Given the description of an element on the screen output the (x, y) to click on. 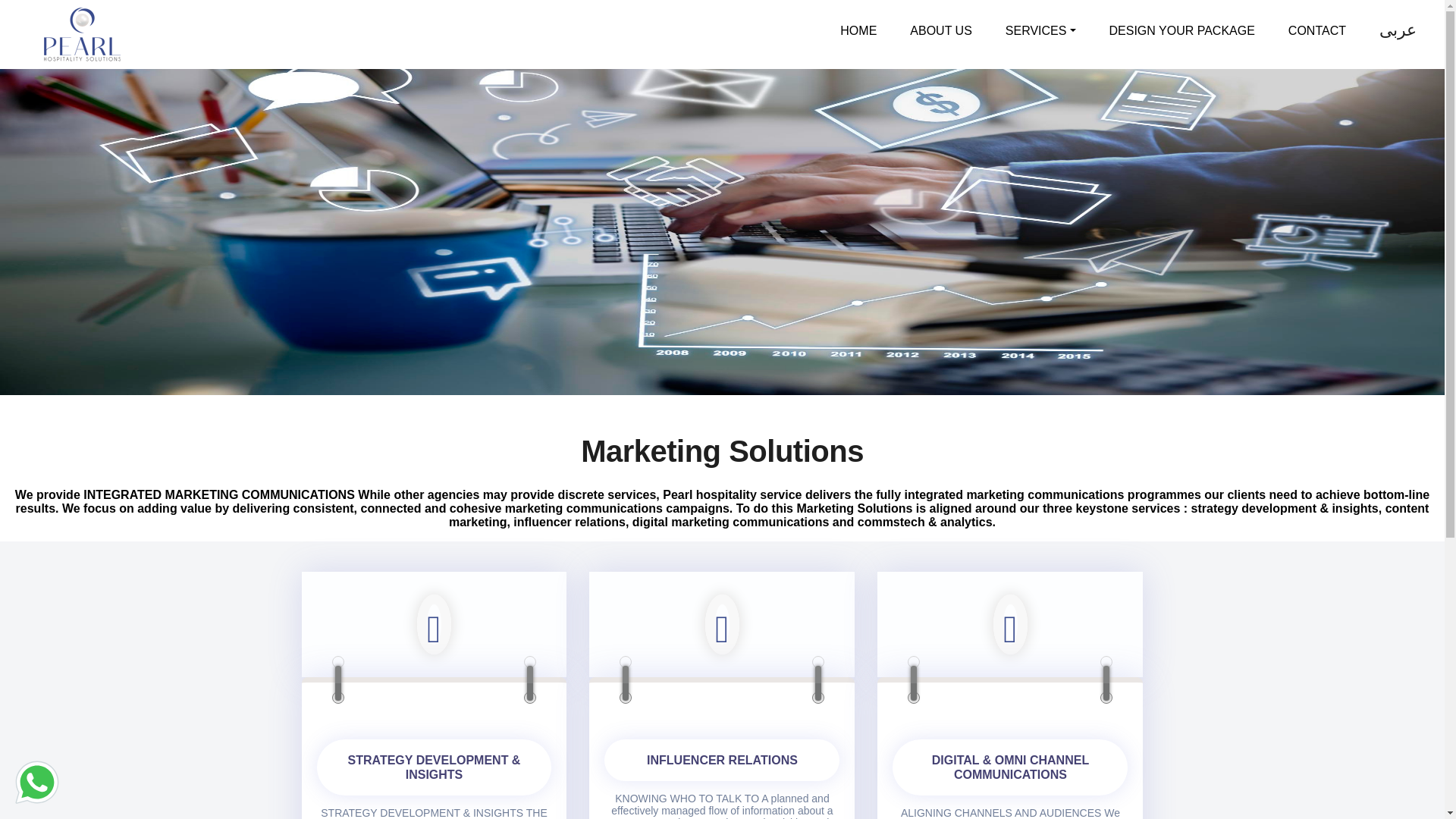
DESIGN YOUR PACKAGE (1181, 31)
ABOUT US (941, 31)
HOME (858, 31)
CONTACT (1316, 31)
SERVICES (1040, 31)
